Given the description of an element on the screen output the (x, y) to click on. 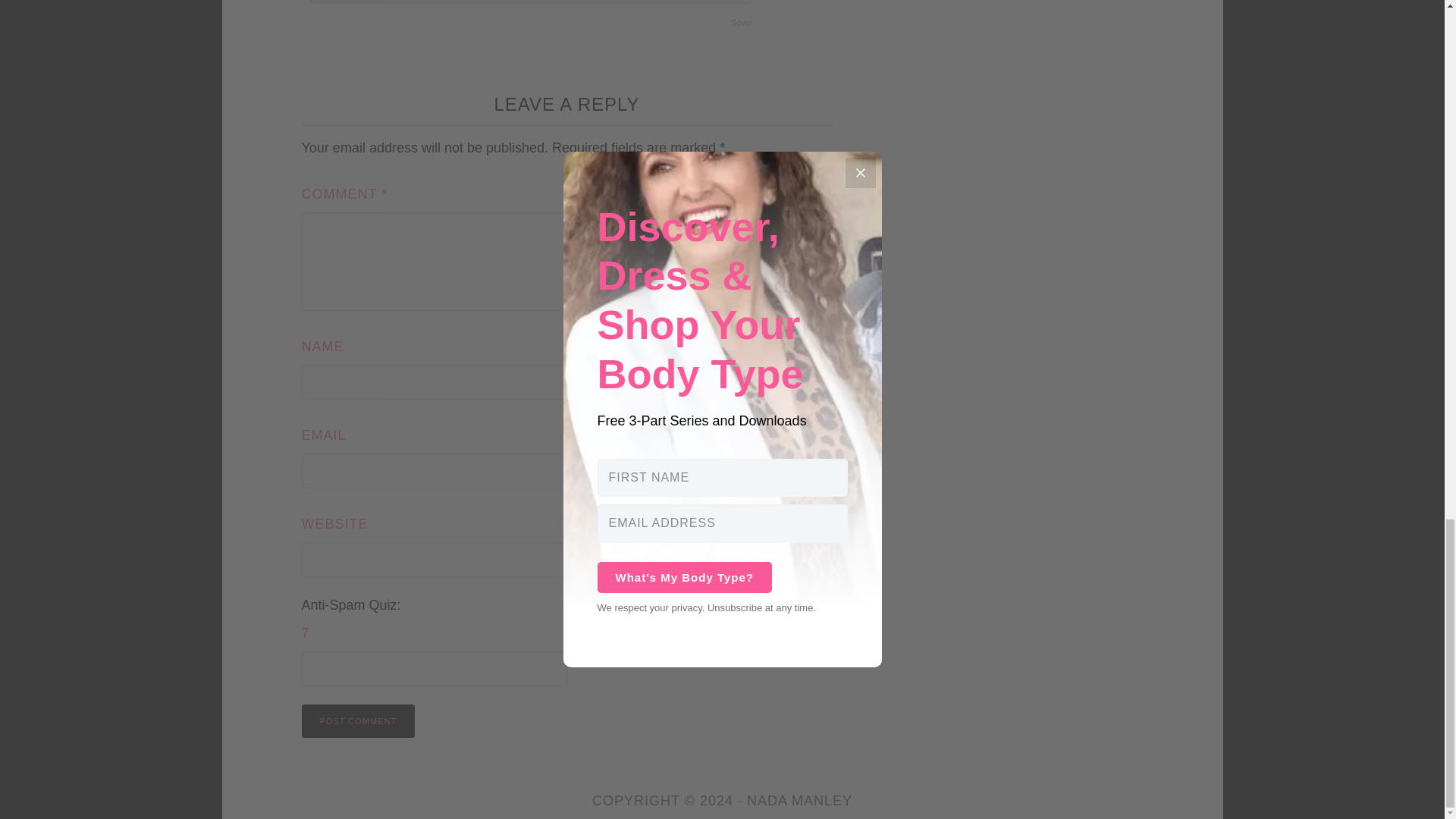
Sovrn (741, 22)
Post Comment (357, 720)
Post Comment (357, 720)
